Given the description of an element on the screen output the (x, y) to click on. 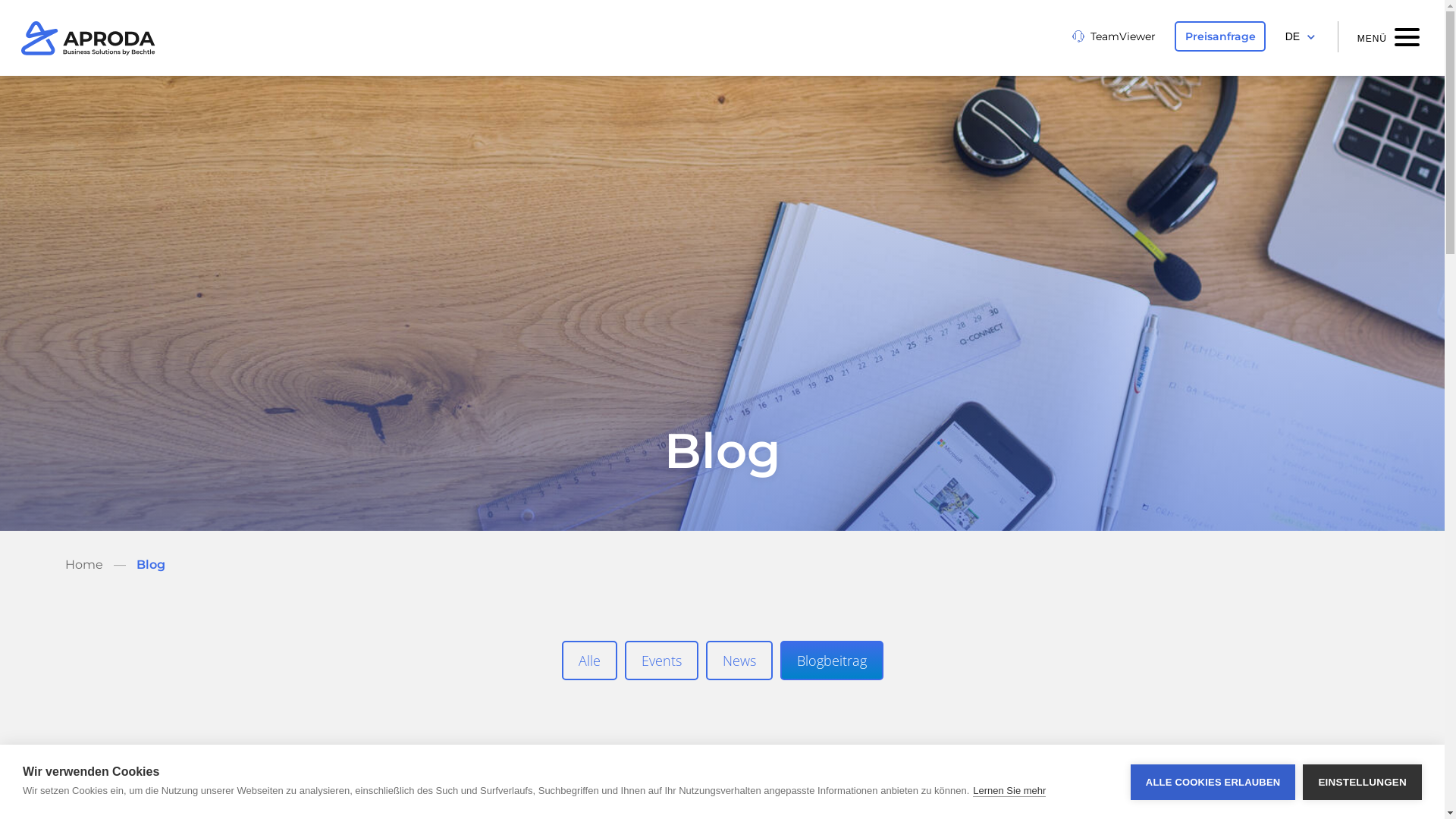
News Element type: text (738, 660)
Blogbeitrag Element type: text (830, 660)
Blog Element type: text (150, 564)
ALLE COOKIES ERLAUBEN Element type: text (1212, 782)
EINSTELLUNGEN Element type: text (1361, 782)
TeamViewer Element type: text (1113, 36)
Preisanfrage Element type: text (1219, 36)
Lernen Sie mehr Element type: text (1008, 790)
Alle Element type: text (588, 660)
Aproda Element type: hover (88, 38)
Home Element type: text (84, 564)
Events Element type: text (661, 660)
